Given the description of an element on the screen output the (x, y) to click on. 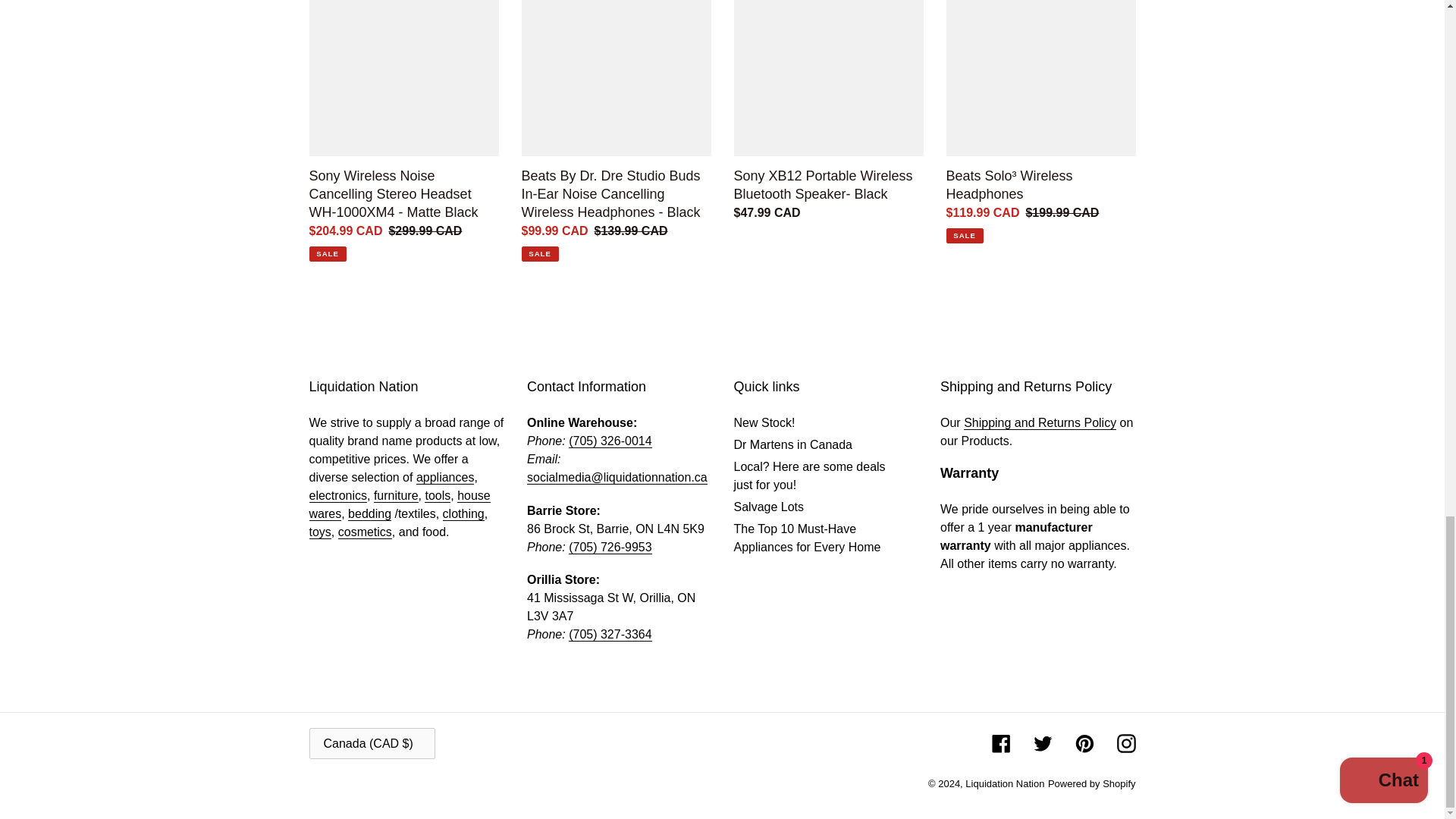
Furniture (396, 495)
Appliances (445, 477)
Cosmetics (364, 531)
Tools (437, 495)
Toys (319, 531)
Womens Clothing (463, 513)
Home Electronics (337, 495)
shipping and returns policy (1039, 422)
Home Hardware (399, 504)
